Given the description of an element on the screen output the (x, y) to click on. 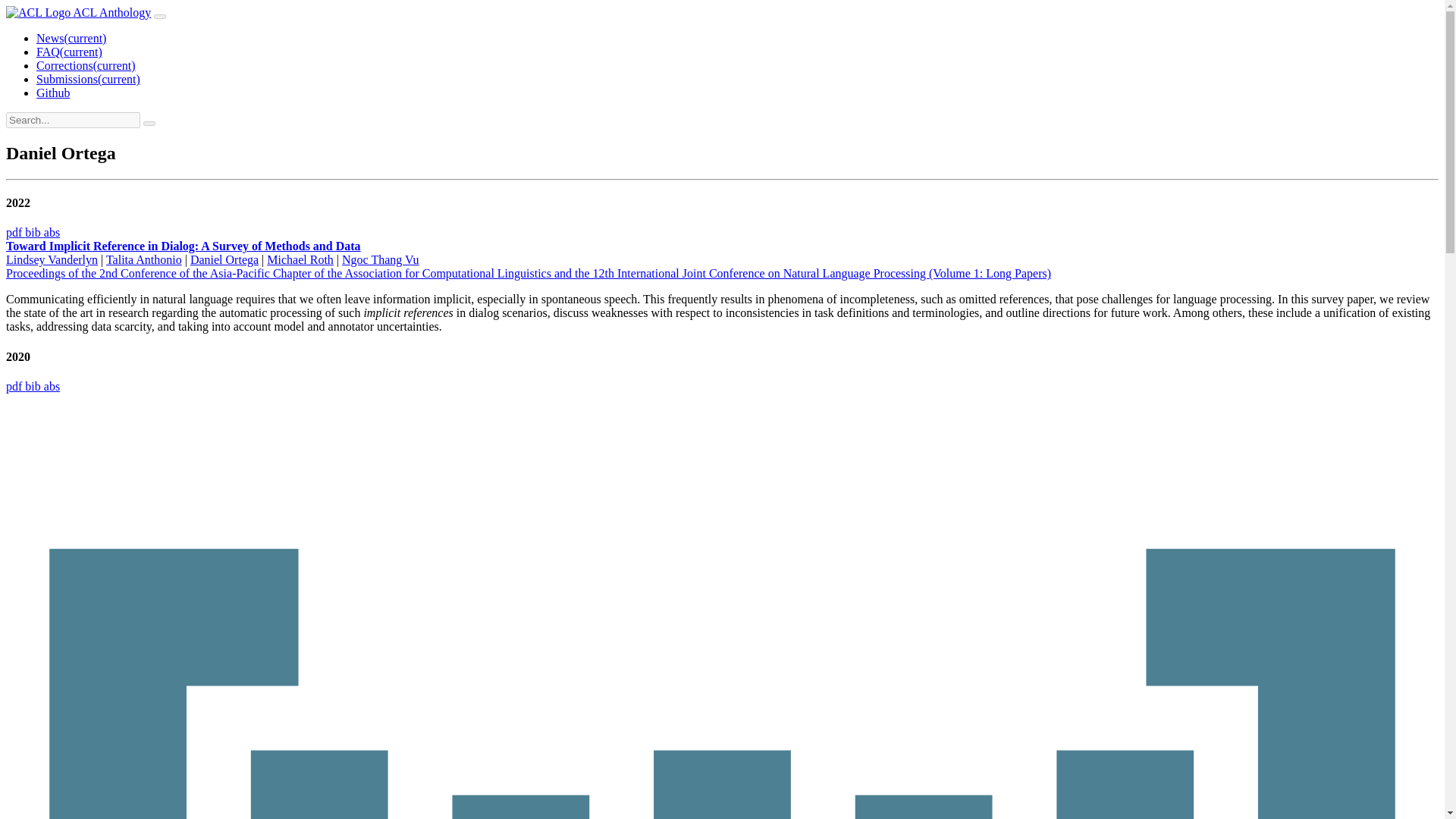
Export to BibTeX (33, 232)
Export to BibTeX (33, 386)
Ngoc Thang Vu (380, 259)
Show Abstract (51, 232)
Lindsey Vanderlyn (51, 259)
Open PDF (14, 232)
Github (52, 92)
Talita Anthonio (144, 259)
pdf (14, 386)
Open PDF (14, 386)
Michael Roth (299, 259)
Show Abstract (51, 386)
abs (51, 386)
Daniel Ortega (224, 259)
